Given the description of an element on the screen output the (x, y) to click on. 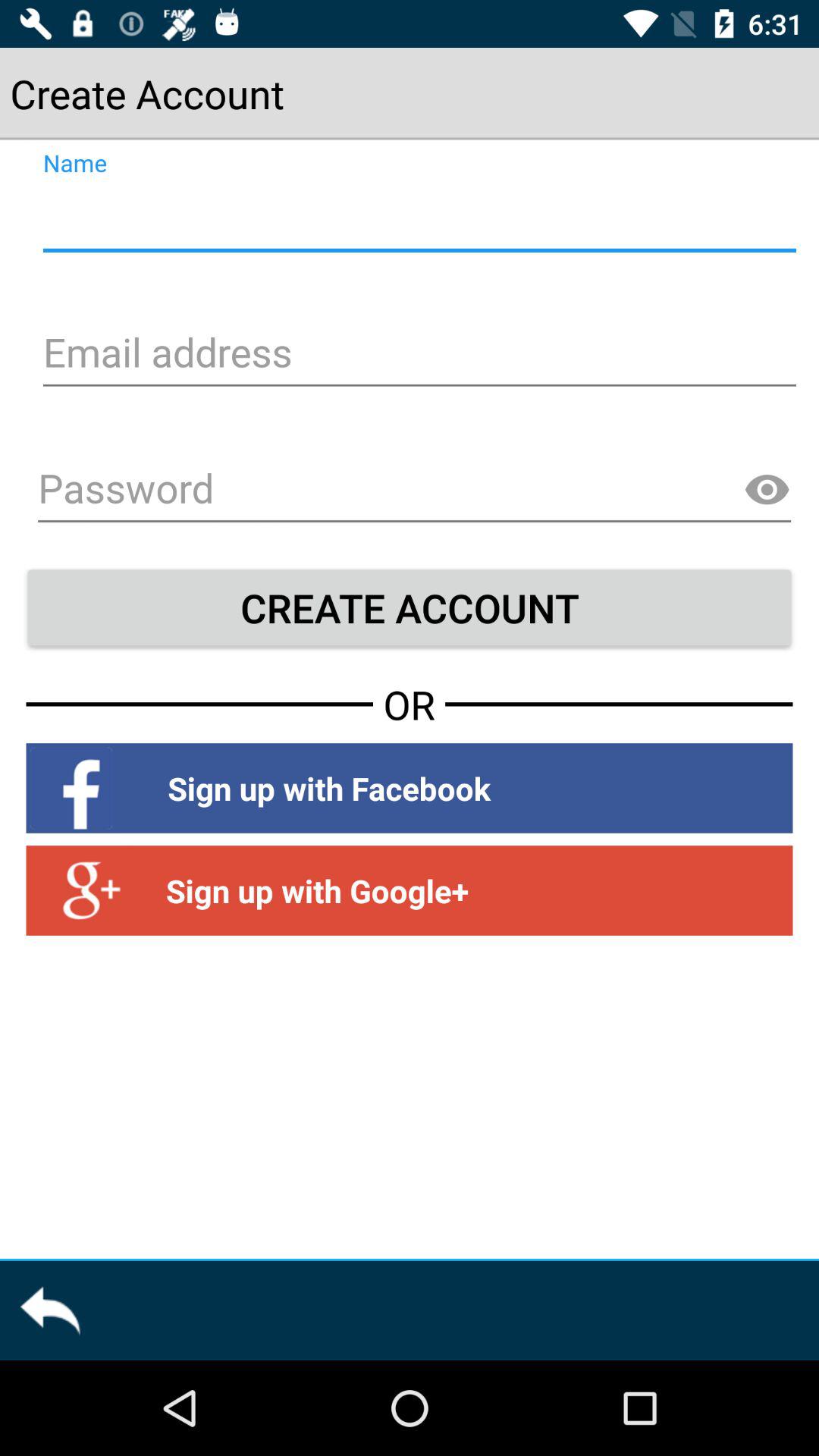
show password (767, 490)
